Given the description of an element on the screen output the (x, y) to click on. 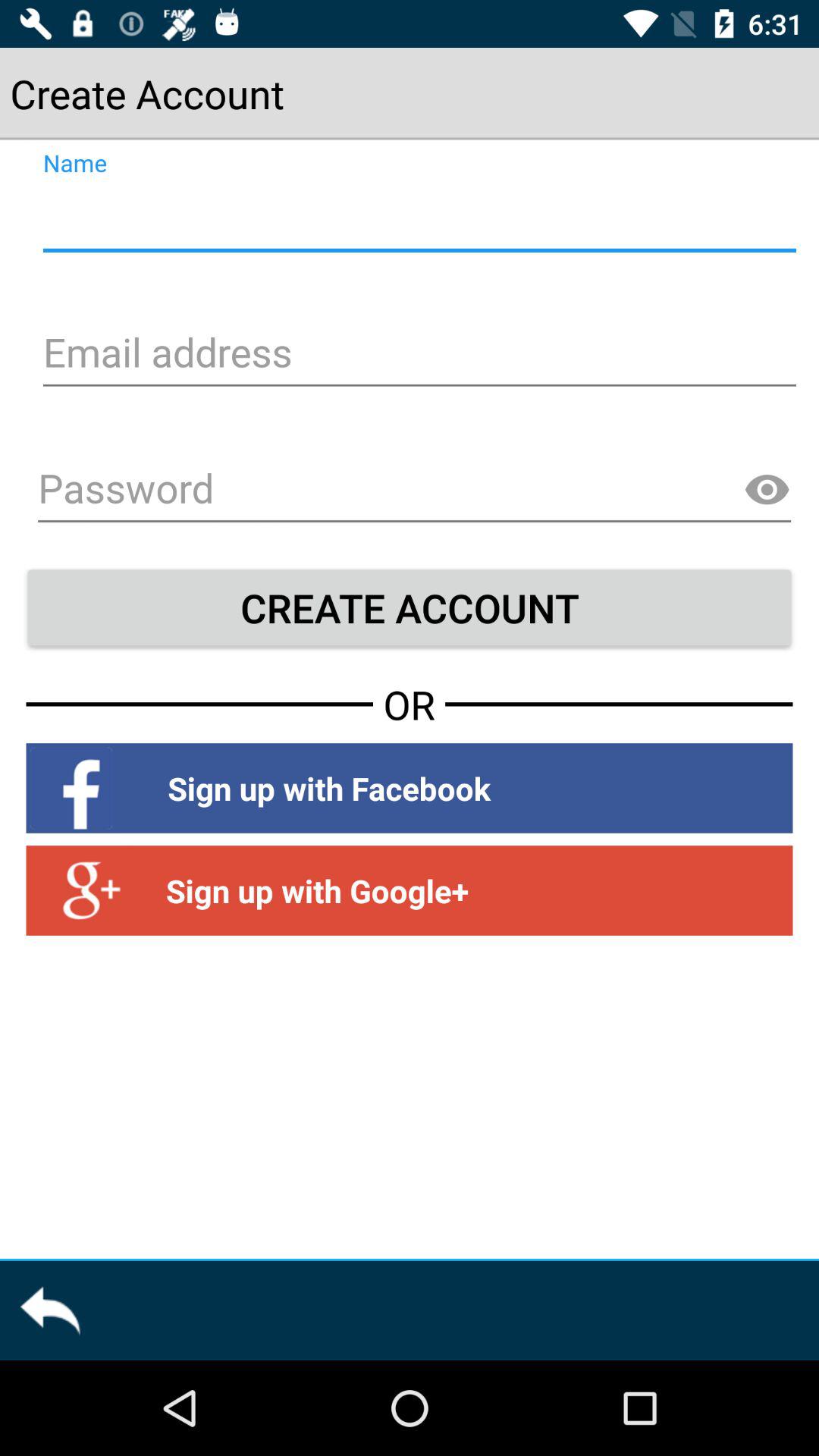
show password (767, 490)
